Given the description of an element on the screen output the (x, y) to click on. 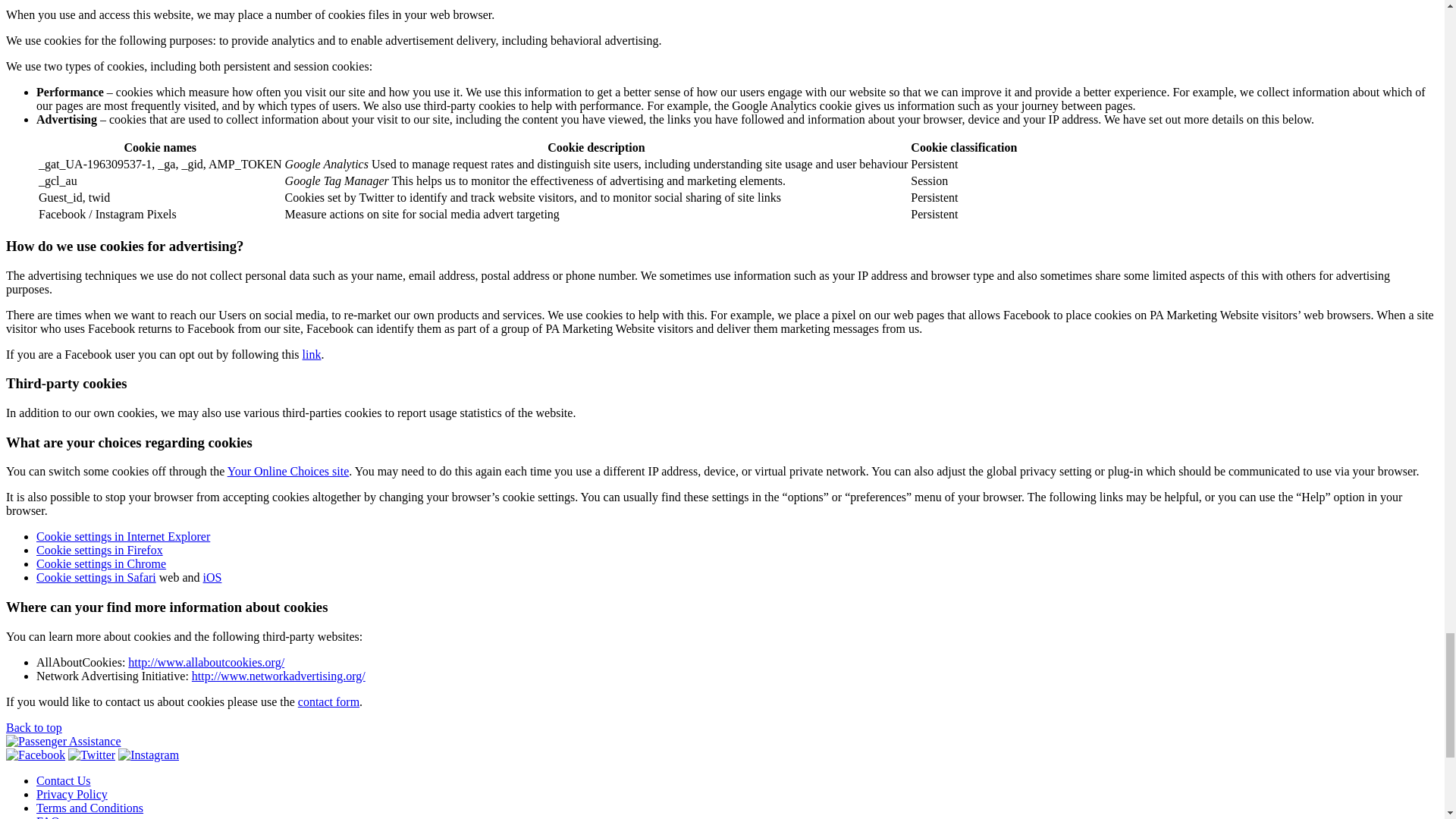
Cookie settings in Firefox (99, 549)
iOS (212, 576)
Cookie settings in Safari (95, 576)
link (311, 353)
Your Online Choices site (288, 471)
Cookie settings in Chrome (100, 563)
Cookie settings in Internet Explorer (122, 535)
